Given the description of an element on the screen output the (x, y) to click on. 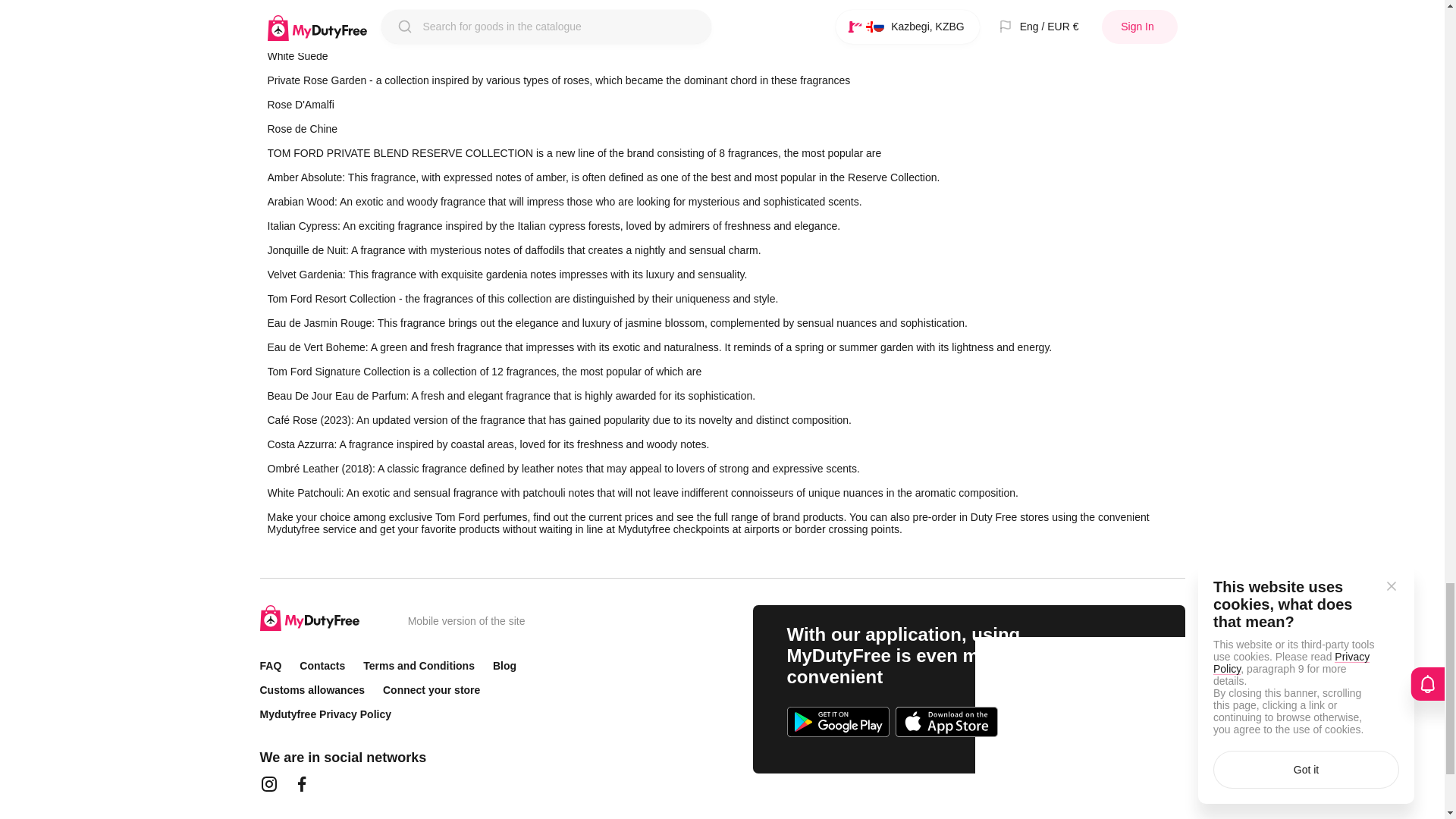
FAQ (270, 665)
Blog (504, 665)
Contacts (322, 665)
Terms and Conditions (418, 665)
Mobile version of the site (466, 621)
